Given the description of an element on the screen output the (x, y) to click on. 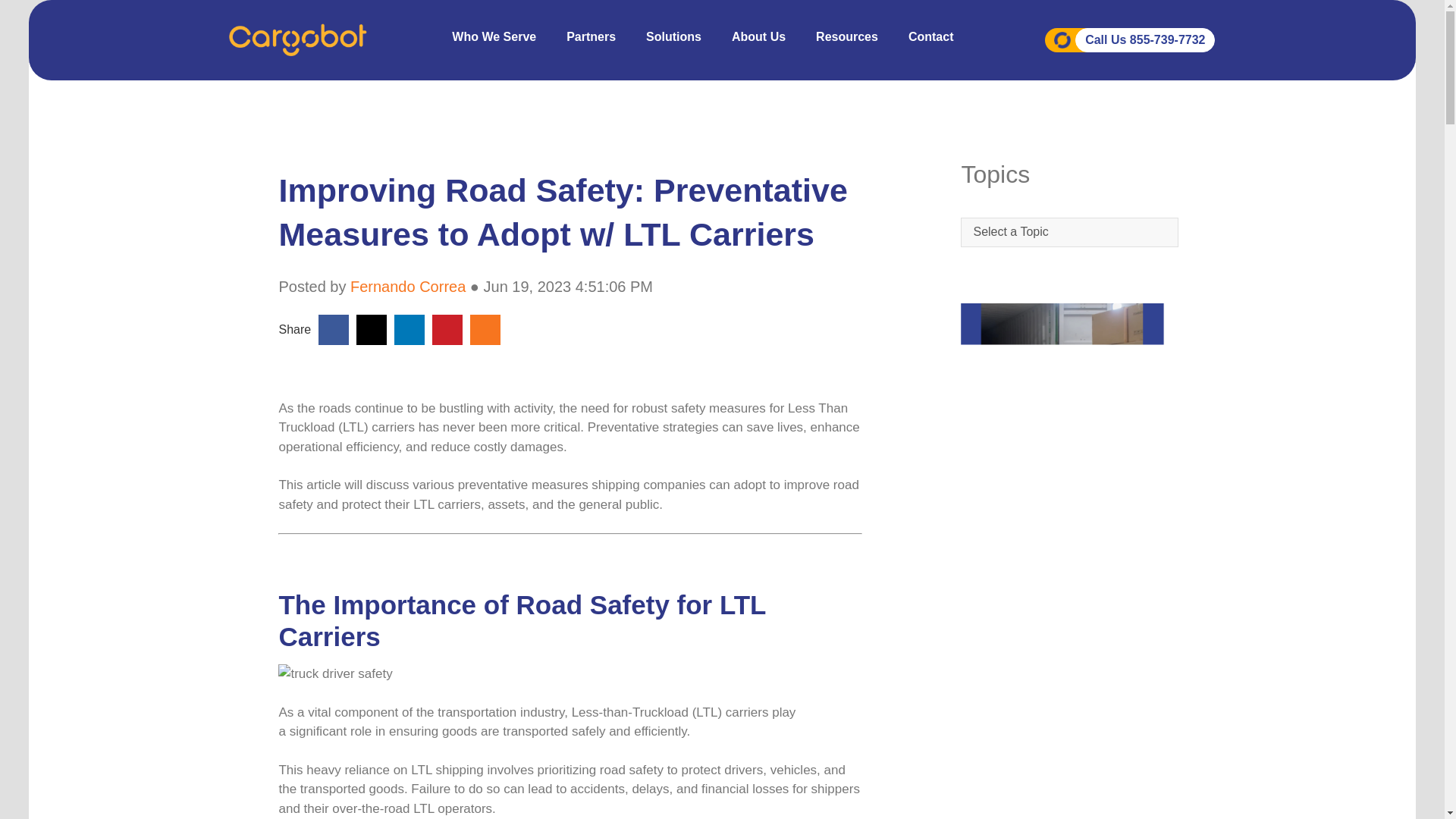
Contact (931, 36)
Solutions (673, 36)
Resources (846, 36)
Who We Serve (493, 36)
About Us (758, 36)
Partners (590, 36)
Share via Email (484, 329)
Share on Facebook (333, 329)
Share on Linkedin (409, 329)
Logo.png (297, 39)
Share on X (371, 329)
